Given the description of an element on the screen output the (x, y) to click on. 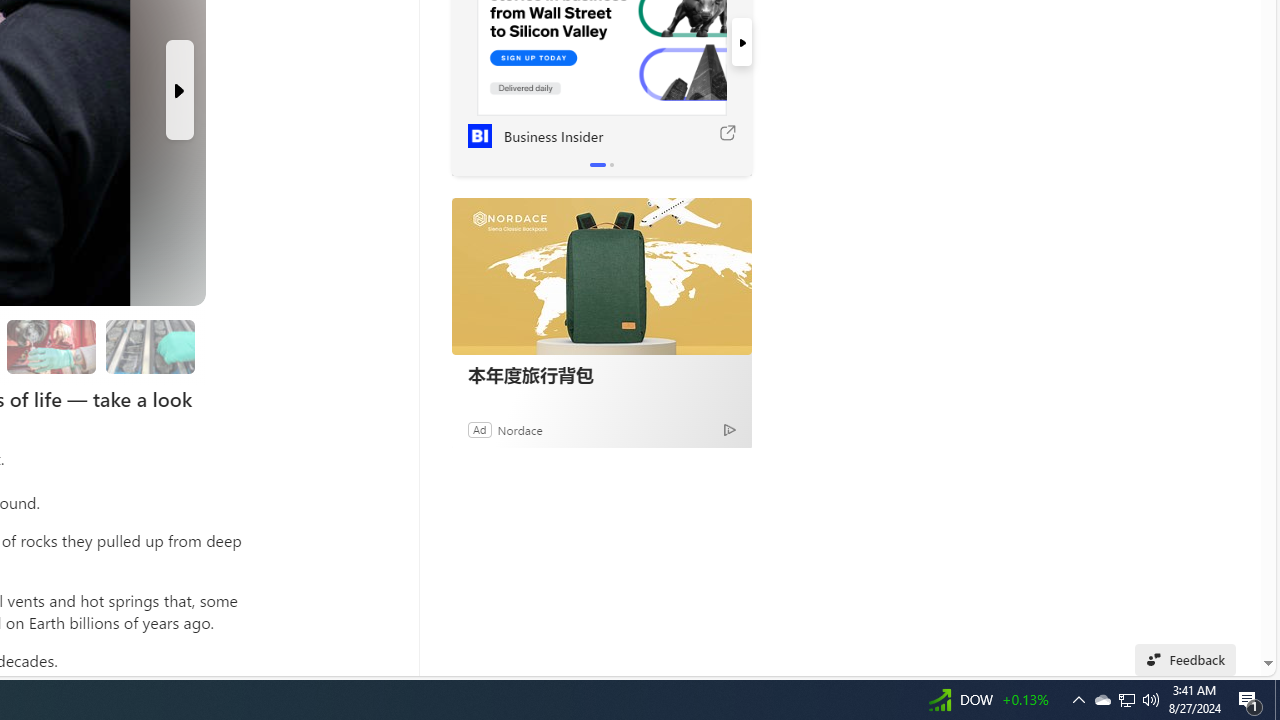
Next Slide (179, 89)
Business Insider (479, 135)
Researchers are still studying the samples (149, 346)
Class: progress (149, 343)
next (741, 42)
Researchers are still studying the samples (150, 346)
